Given the description of an element on the screen output the (x, y) to click on. 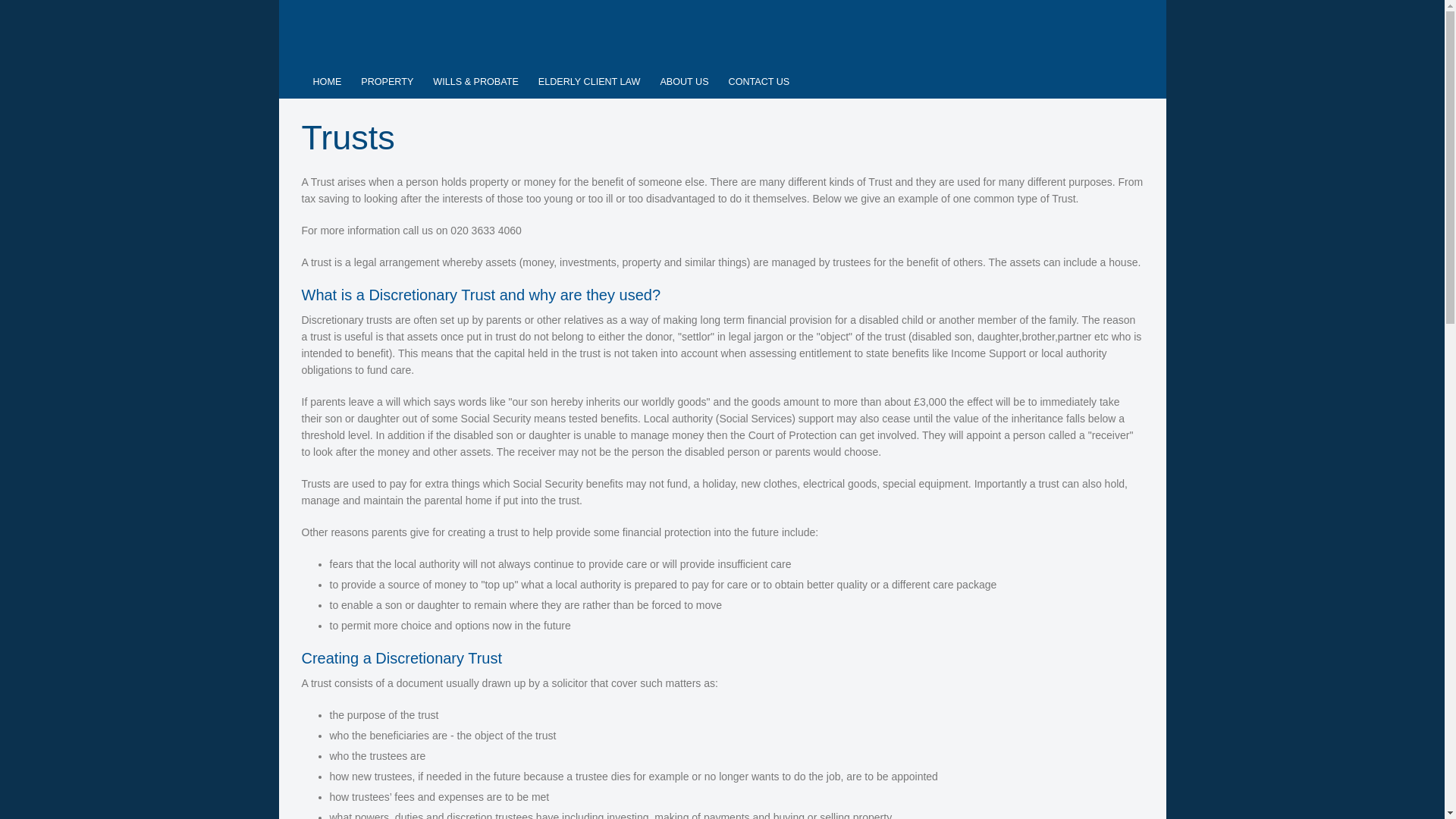
CONTACT US (759, 81)
ABOUT US (683, 81)
About (683, 81)
ELDERLY CLIENT LAW (589, 81)
HOME (327, 81)
Elderly Client Law (589, 81)
Property (387, 81)
PROPERTY (387, 81)
Wills and Probate (475, 81)
